Given the description of an element on the screen output the (x, y) to click on. 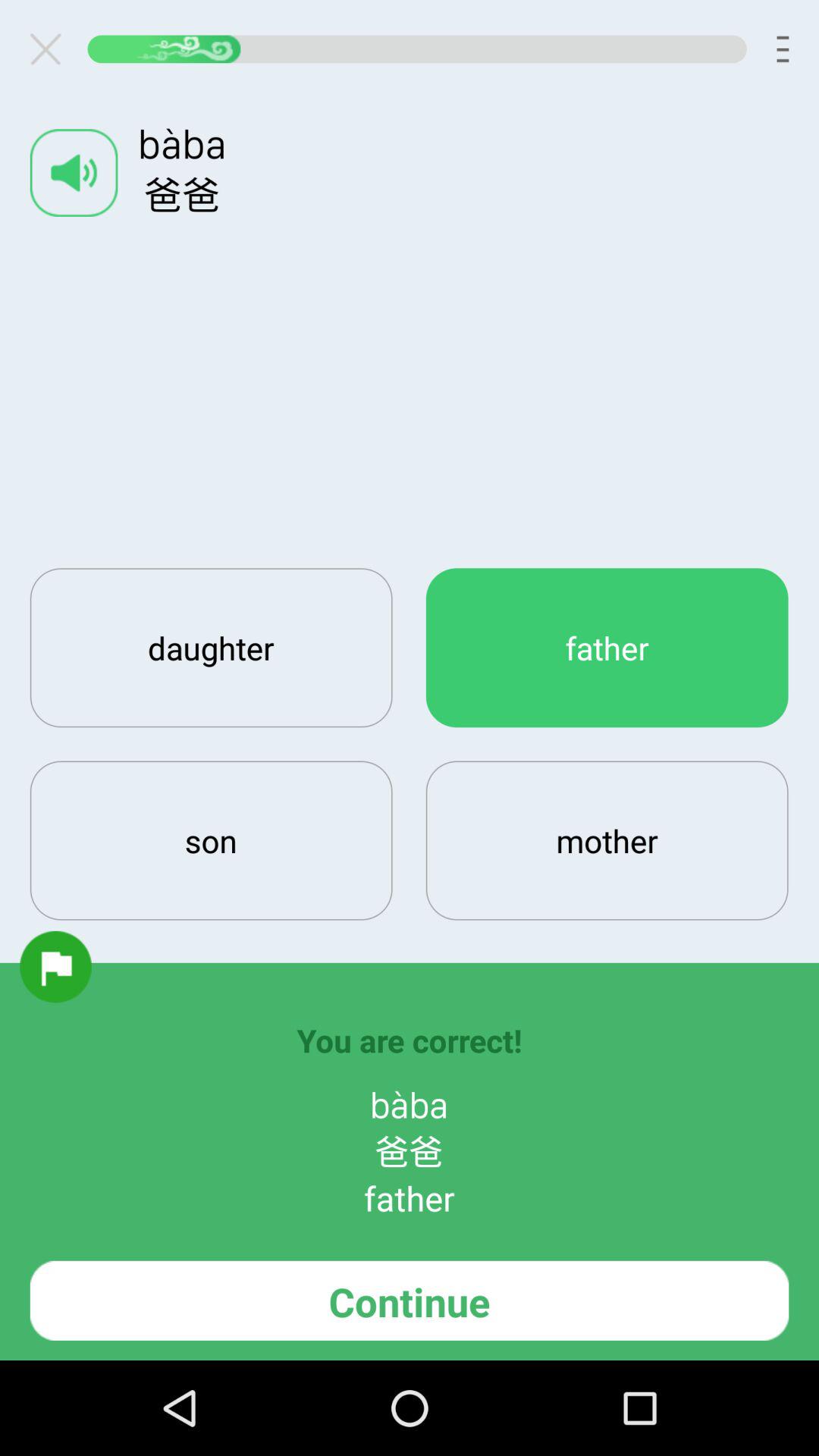
go back (51, 49)
